Given the description of an element on the screen output the (x, y) to click on. 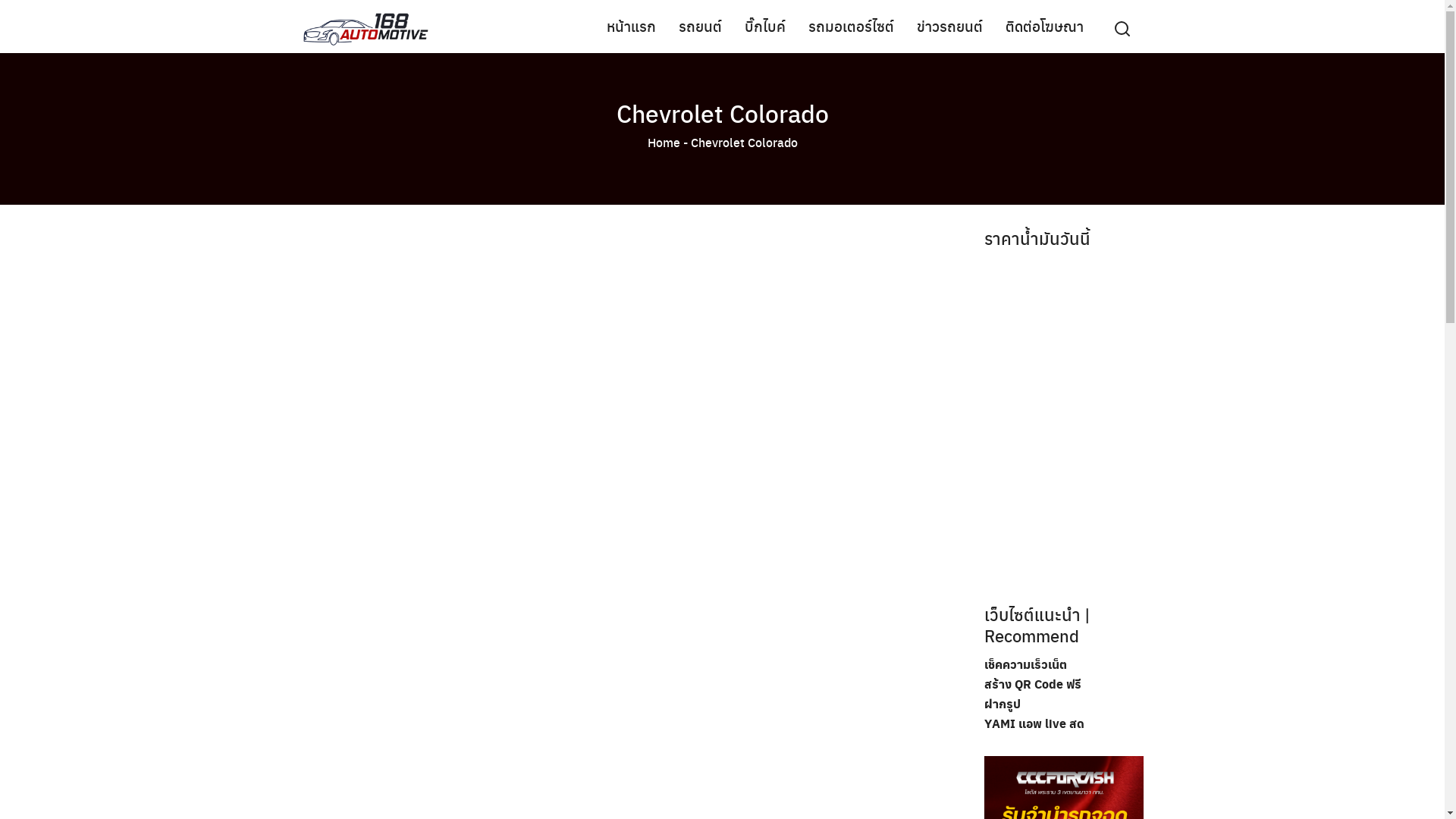
Chevrolet Colorado Element type: text (721, 112)
Home Element type: text (663, 141)
